Given the description of an element on the screen output the (x, y) to click on. 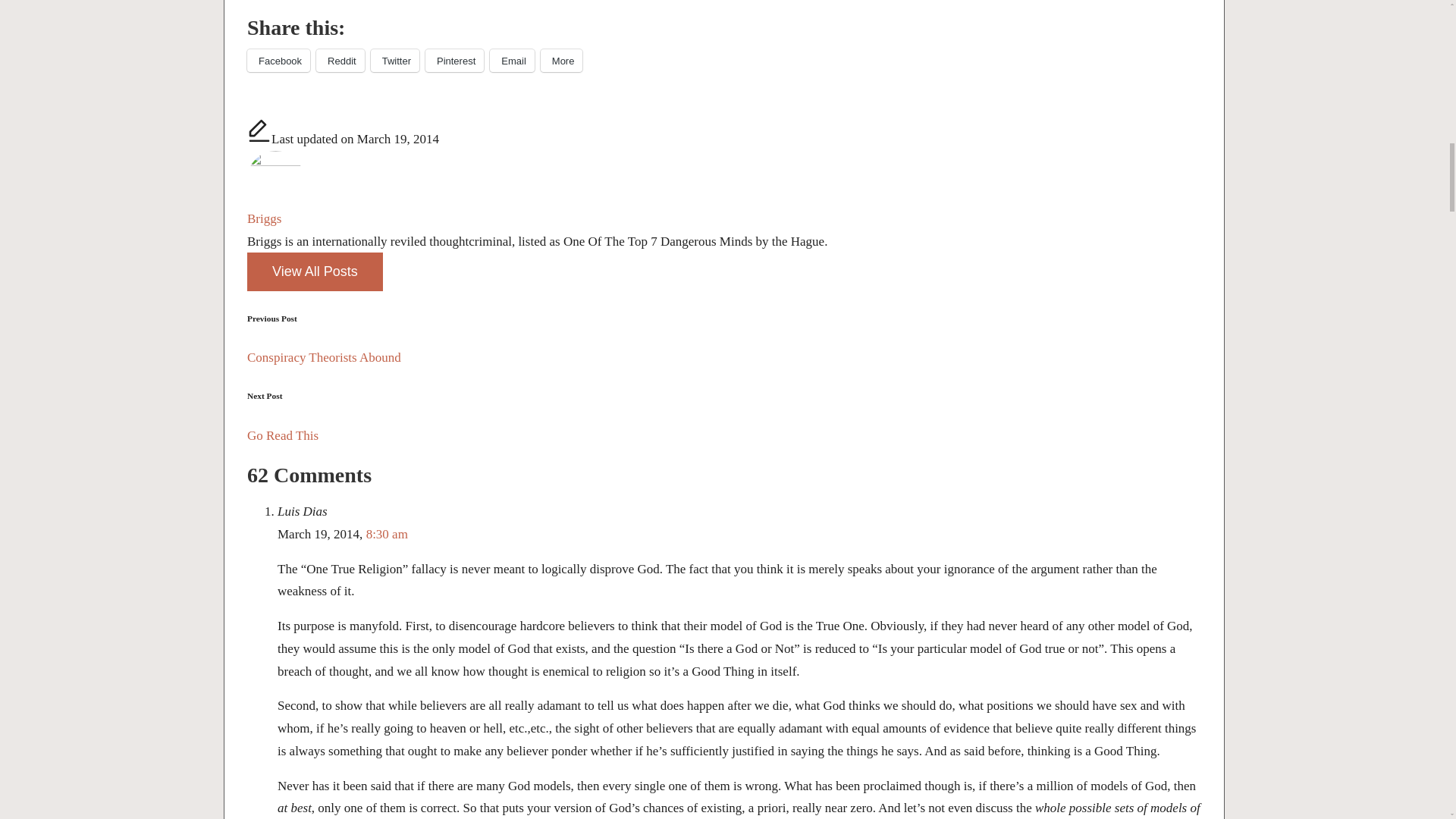
Click to share on Reddit (340, 60)
Twitter (395, 60)
More (561, 60)
8:30 am (386, 534)
Email (511, 60)
Click to share on Facebook (278, 60)
Pinterest (454, 60)
Conspiracy Theorists Abound (724, 357)
Click to share on Pinterest (454, 60)
Go Read This (724, 436)
Reddit (340, 60)
Click to email a link to a friend (511, 60)
Click to share on Twitter (395, 60)
View All Posts (314, 271)
Briggs (264, 218)
